Given the description of an element on the screen output the (x, y) to click on. 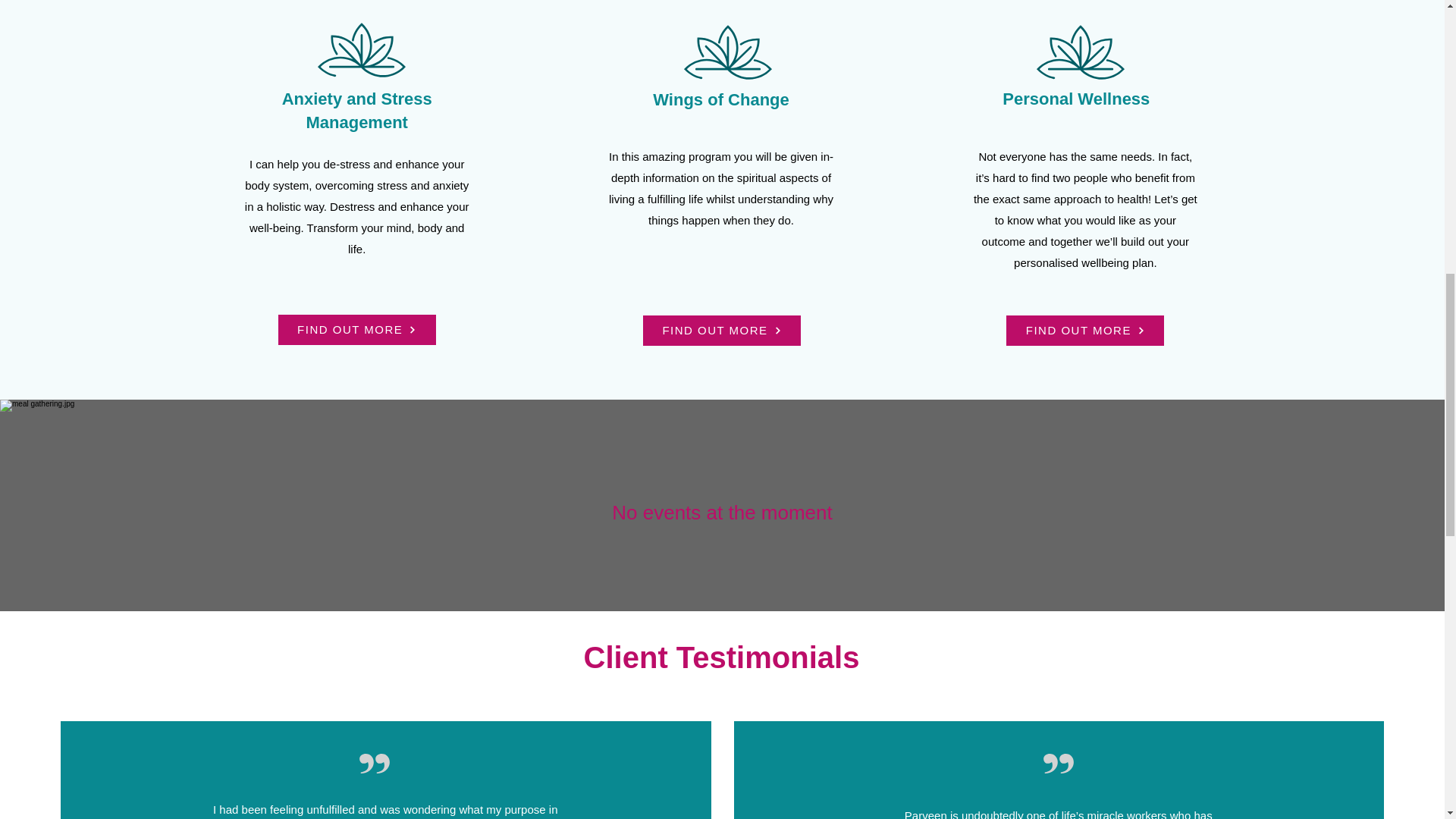
FIND OUT MORE (721, 330)
FIND OUT MORE (1084, 330)
FIND OUT MORE (356, 329)
